Given the description of an element on the screen output the (x, y) to click on. 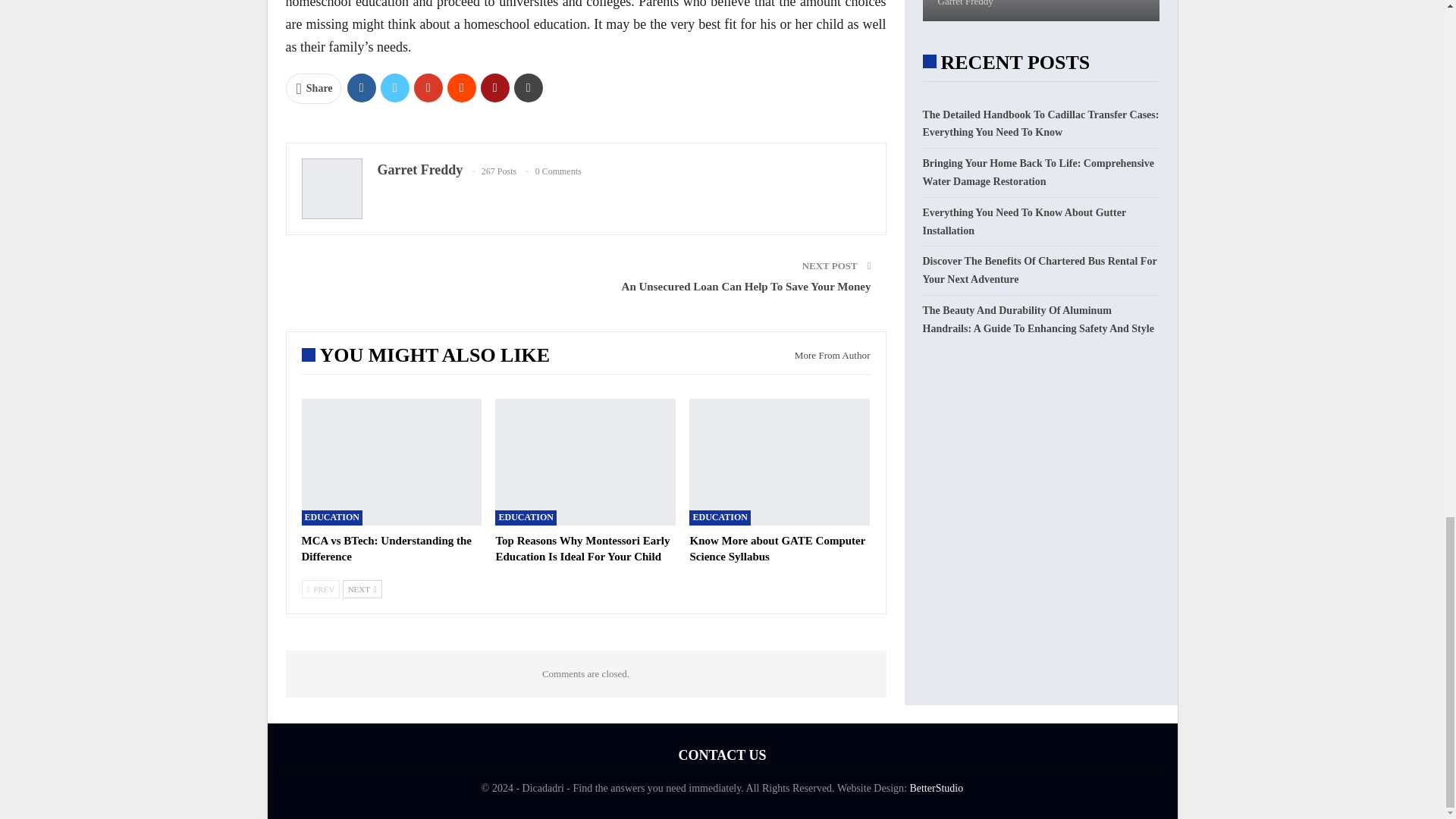
Next (361, 588)
MCA vs BTech: Understanding the Difference (386, 548)
Previous (320, 588)
Know More about GATE Computer Science Syllabus (778, 461)
Know More about GATE Computer Science Syllabus (776, 548)
MCA vs BTech: Understanding the Difference (391, 461)
